Given the description of an element on the screen output the (x, y) to click on. 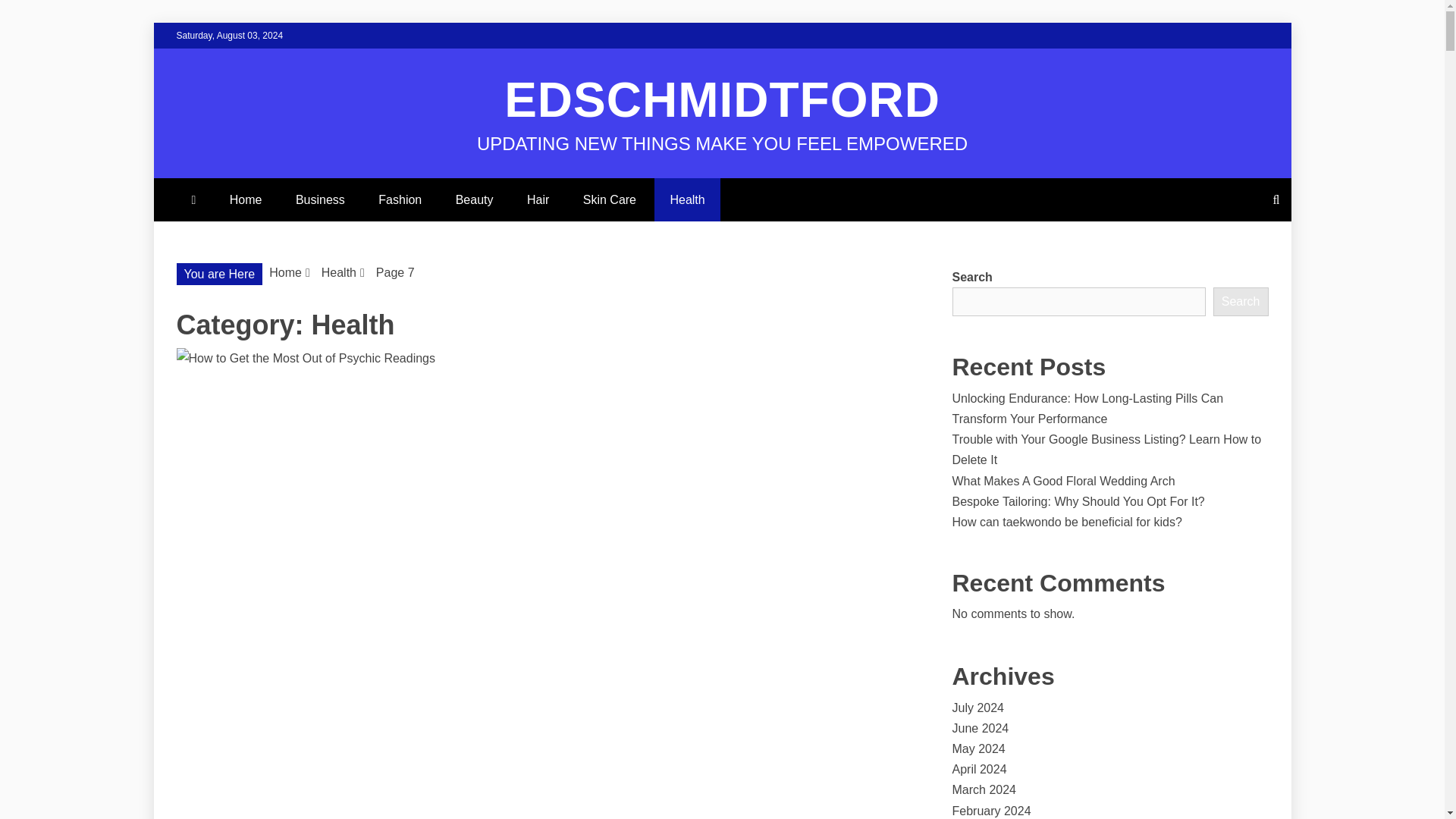
Health (686, 199)
Business (320, 199)
Health (338, 272)
Home (246, 199)
Skin Care (608, 199)
Hair (538, 199)
Beauty (474, 199)
EDSCHMIDTFORD (721, 99)
Home (285, 272)
Fashion (399, 199)
